Given the description of an element on the screen output the (x, y) to click on. 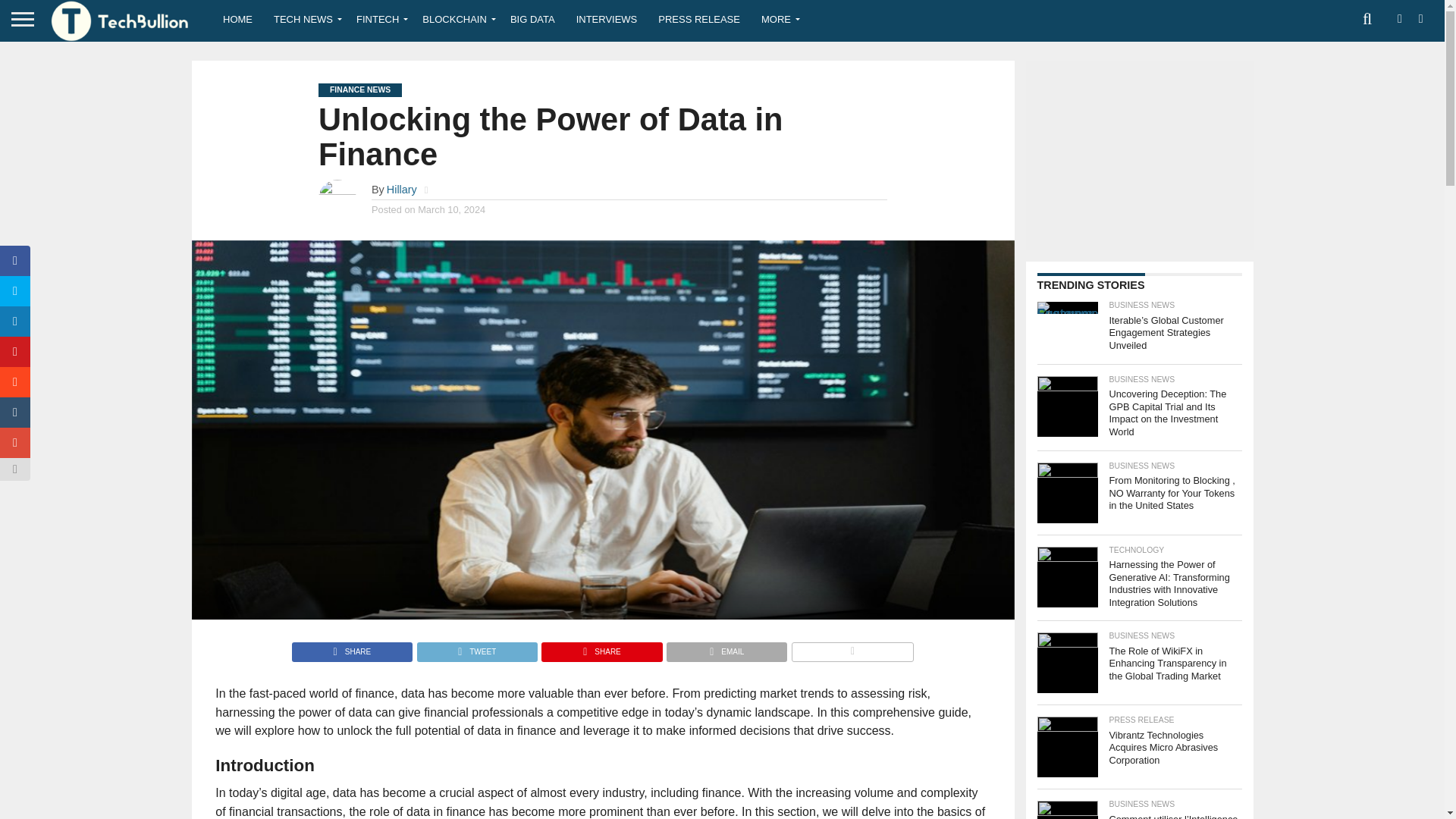
Share on Facebook (352, 647)
Posts by Hillary (401, 189)
Tweet This Post (476, 647)
Pin This Post (601, 647)
